Given the description of an element on the screen output the (x, y) to click on. 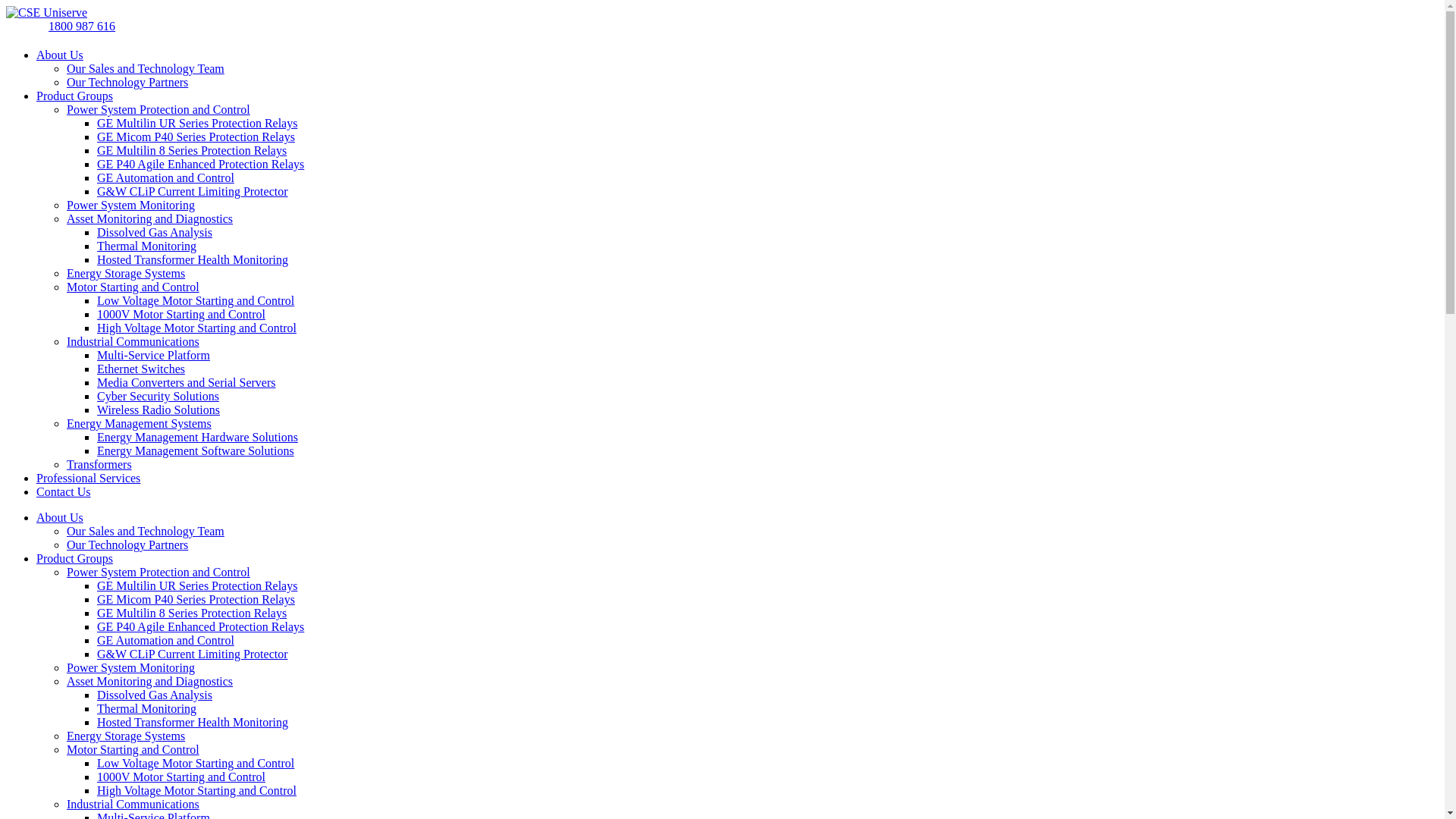
Power System Protection and Control Element type: text (158, 109)
Industrial Communications Element type: text (132, 341)
Contact Us Element type: text (63, 491)
Asset Monitoring and Diagnostics Element type: text (149, 218)
GE Multilin 8 Series Protection Relays Element type: text (191, 612)
Our Technology Partners Element type: text (127, 544)
Product Groups Element type: text (74, 558)
About Us Element type: text (59, 517)
High Voltage Motor Starting and Control Element type: text (196, 790)
GE Multilin UR Series Protection Relays Element type: text (197, 122)
Hosted Transformer Health Monitoring Element type: text (192, 721)
GE Multilin UR Series Protection Relays Element type: text (197, 585)
Transformers Element type: text (98, 464)
GE Automation and Control Element type: text (165, 177)
1000V Motor Starting and Control Element type: text (181, 776)
Ethernet Switches Element type: text (141, 368)
G&W CLiP Current Limiting Protector Element type: text (192, 653)
GE Micom P40 Series Protection Relays Element type: text (195, 599)
GE P40 Agile Enhanced Protection Relays Element type: text (200, 626)
Power System Protection and Control Element type: text (158, 571)
Thermal Monitoring Element type: text (146, 708)
Wireless Radio Solutions Element type: text (158, 409)
About Us Element type: text (59, 54)
Energy Management Software Solutions Element type: text (195, 450)
G&W CLiP Current Limiting Protector Element type: text (192, 191)
Low Voltage Motor Starting and Control Element type: text (195, 762)
Low Voltage Motor Starting and Control Element type: text (195, 300)
Multi-Service Platform Element type: text (153, 354)
High Voltage Motor Starting and Control Element type: text (196, 327)
Energy Management Systems Element type: text (138, 423)
Motor Starting and Control Element type: text (132, 749)
Dissolved Gas Analysis Element type: text (154, 231)
Hosted Transformer Health Monitoring Element type: text (192, 259)
Power System Monitoring Element type: text (130, 204)
Thermal Monitoring Element type: text (146, 245)
Our Sales and Technology Team Element type: text (145, 68)
Dissolved Gas Analysis Element type: text (154, 694)
Our Sales and Technology Team Element type: text (145, 530)
GE P40 Agile Enhanced Protection Relays Element type: text (200, 163)
Media Converters and Serial Servers Element type: text (186, 382)
Our Technology Partners Element type: text (127, 81)
Power System Monitoring Element type: text (130, 667)
Energy Storage Systems Element type: text (125, 272)
Industrial Communications Element type: text (132, 803)
1000V Motor Starting and Control Element type: text (181, 313)
Energy Management Hardware Solutions Element type: text (197, 436)
GE Micom P40 Series Protection Relays Element type: text (195, 136)
Professional Services Element type: text (88, 477)
Product Groups Element type: text (74, 95)
Energy Storage Systems Element type: text (125, 735)
GE Multilin 8 Series Protection Relays Element type: text (191, 150)
Motor Starting and Control Element type: text (132, 286)
Cyber Security Solutions Element type: text (158, 395)
1800 987 616 Element type: text (81, 26)
GE Automation and Control Element type: text (165, 639)
Asset Monitoring and Diagnostics Element type: text (149, 680)
